Given the description of an element on the screen output the (x, y) to click on. 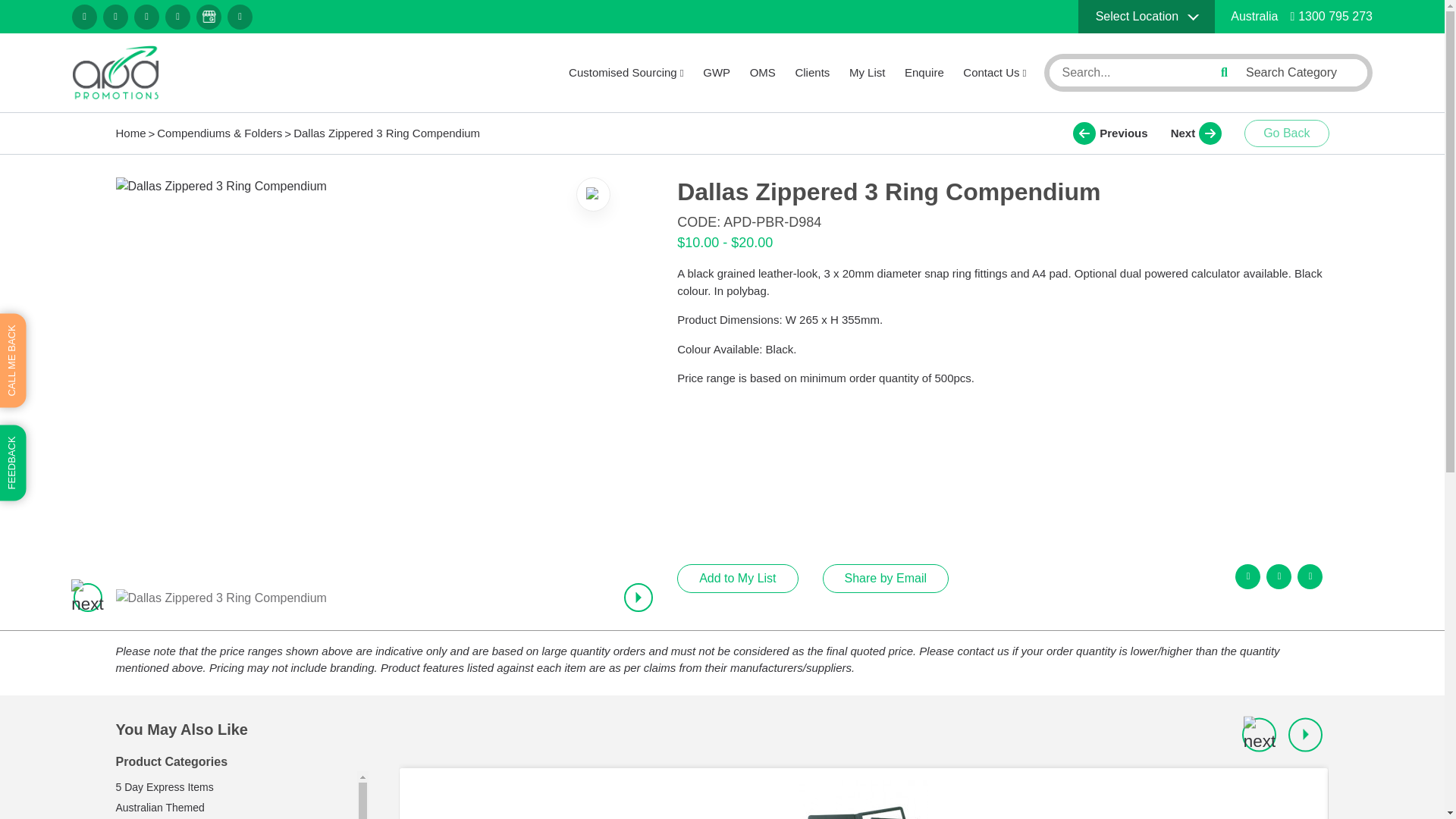
Select Location (1146, 16)
Contact Us (994, 72)
Search Category (1300, 71)
My List (866, 72)
Enquire (923, 72)
OMS (762, 72)
Customised Sourcing (626, 72)
1300 795 273 (1331, 16)
GWP (716, 72)
Clients (811, 72)
